Given the description of an element on the screen output the (x, y) to click on. 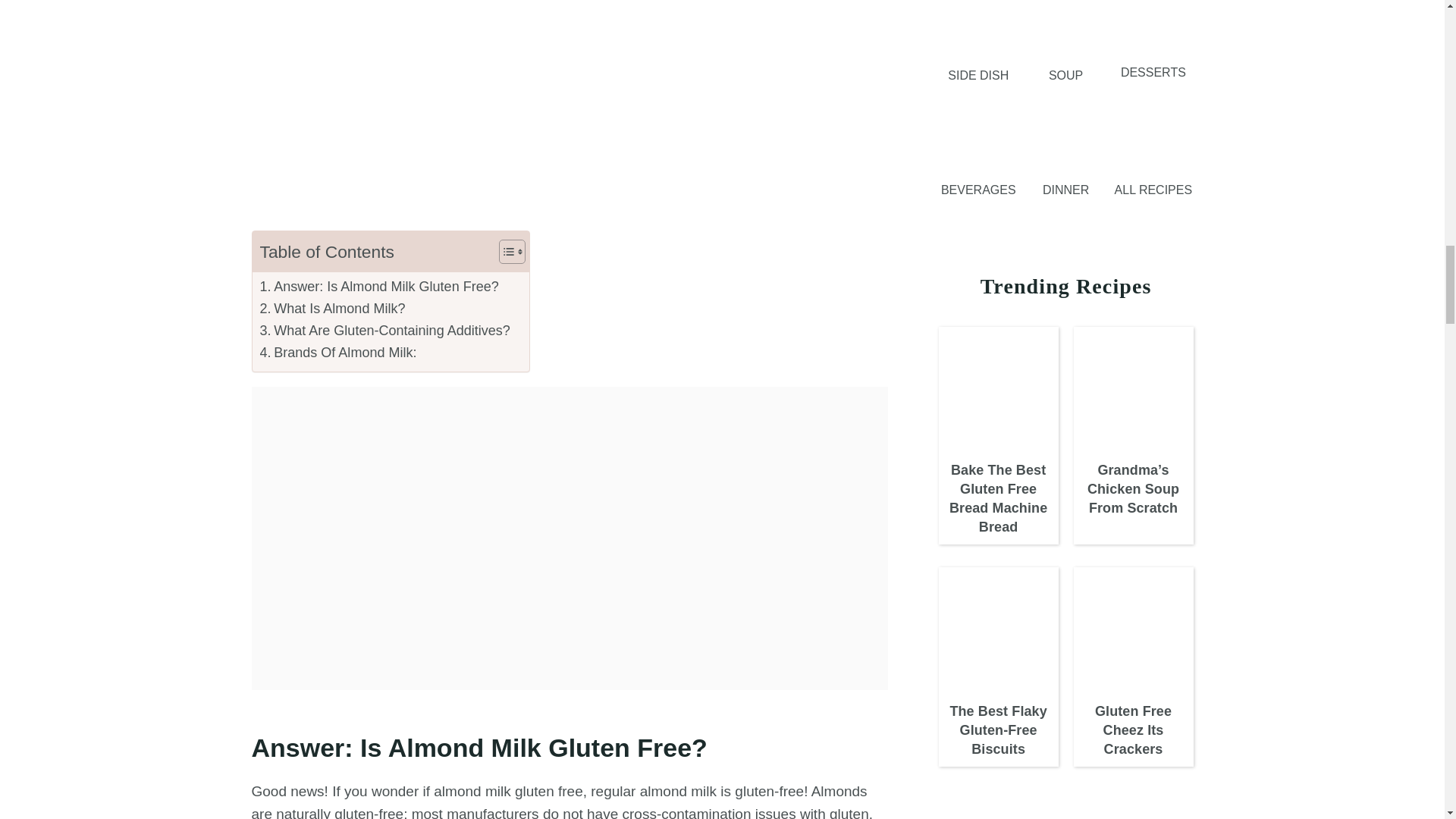
What Is Almond Milk? (331, 309)
What Is Almond Milk? (331, 309)
Answer: Is Almond Milk Gluten Free? (378, 287)
Brands Of Almond Milk: (337, 352)
Answer: Is Almond Milk Gluten Free? (378, 287)
Brands Of Almond Milk: (337, 352)
What Are Gluten-Containing Additives?  (386, 331)
